Given the description of an element on the screen output the (x, y) to click on. 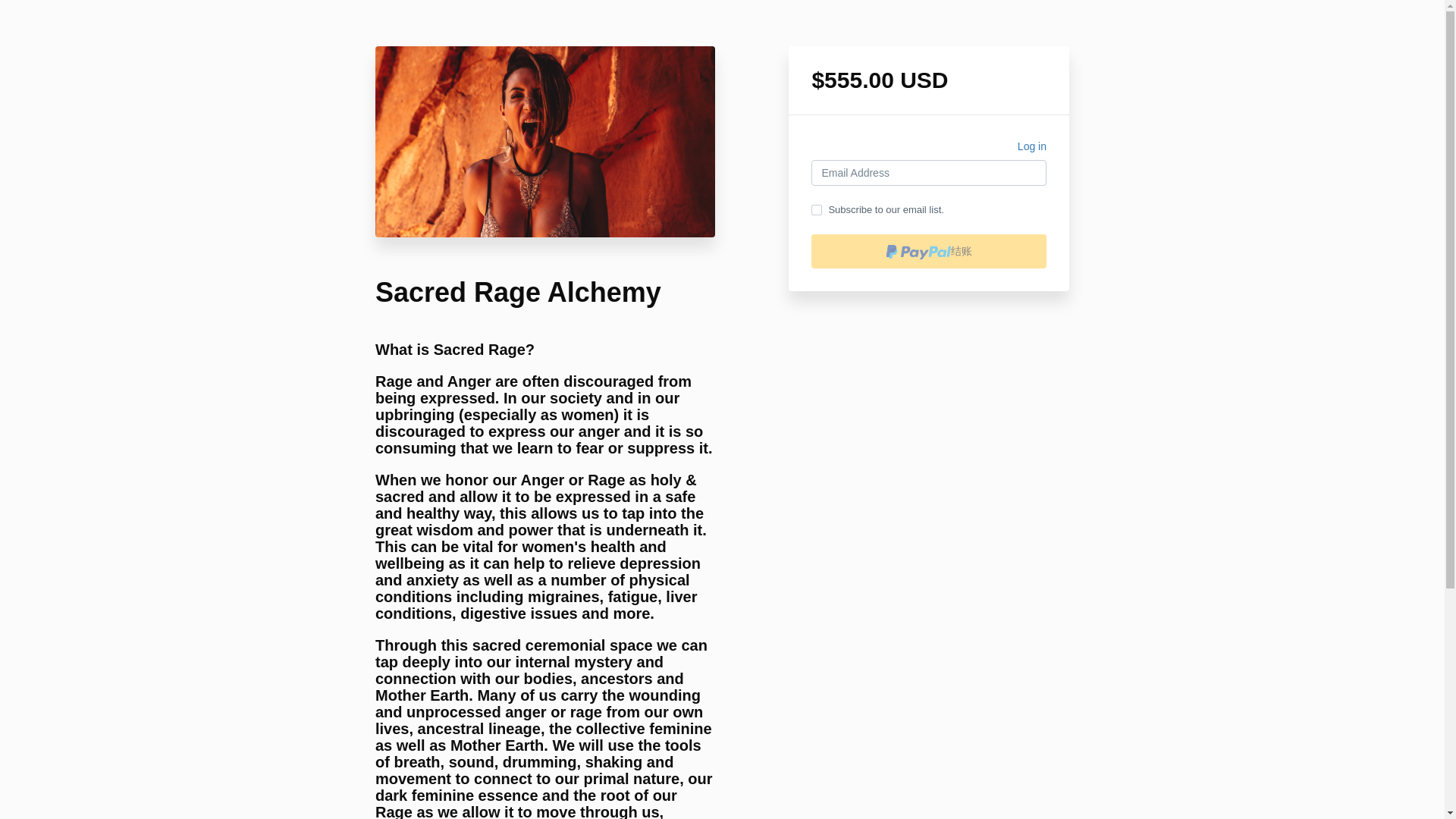
Log in (1031, 148)
1 (816, 209)
PayPal (928, 251)
